Given the description of an element on the screen output the (x, y) to click on. 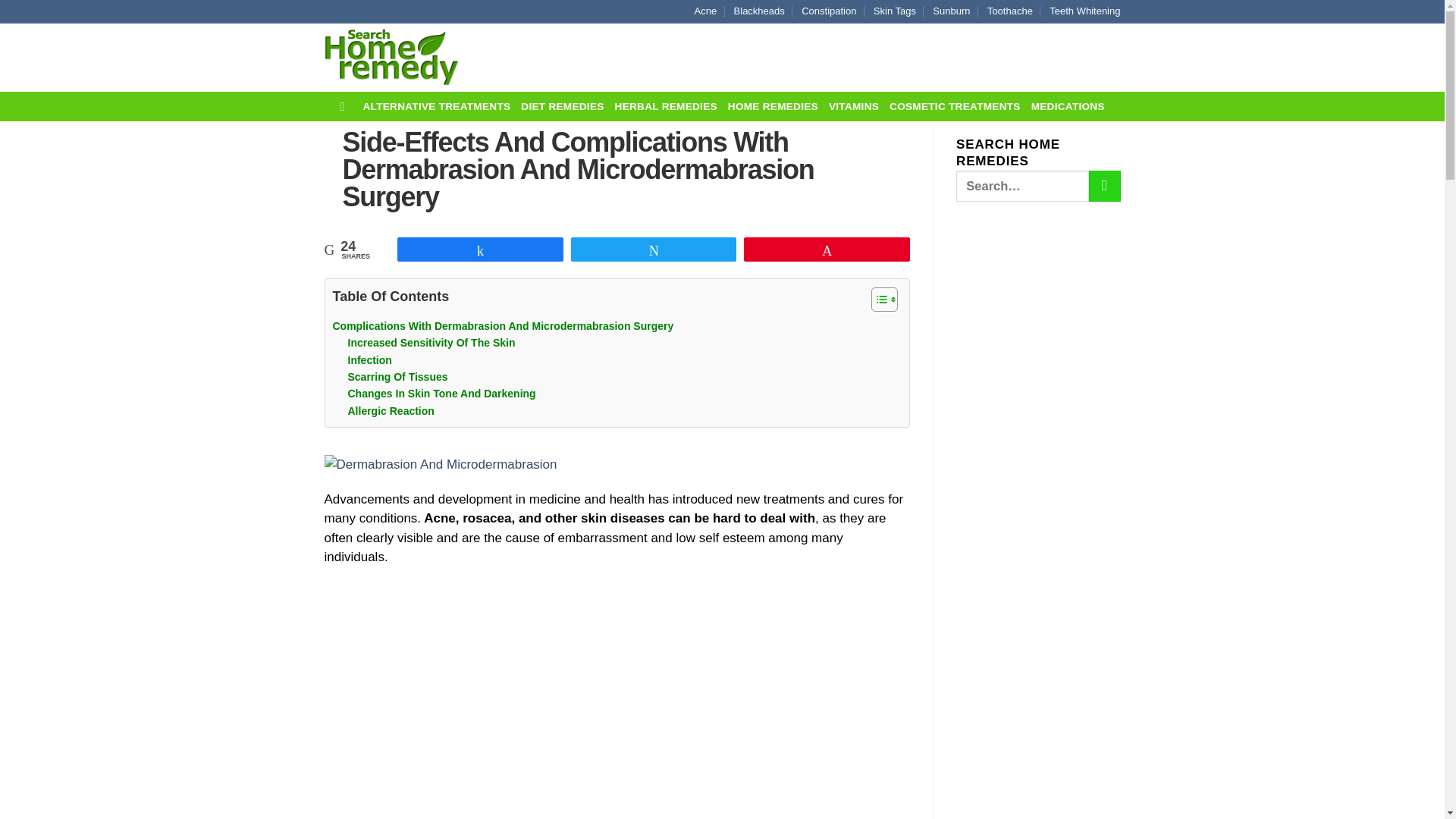
Follow on Facebook (1060, 56)
Toothache (1009, 11)
Increased Sensitivity Of The Skin (431, 342)
HERBAL REMEDIES (665, 106)
HOME REMEDIES (773, 106)
Allergic Reaction (390, 410)
Changes In Skin Tone And Darkening (441, 393)
VITAMINS (853, 106)
